Given the description of an element on the screen output the (x, y) to click on. 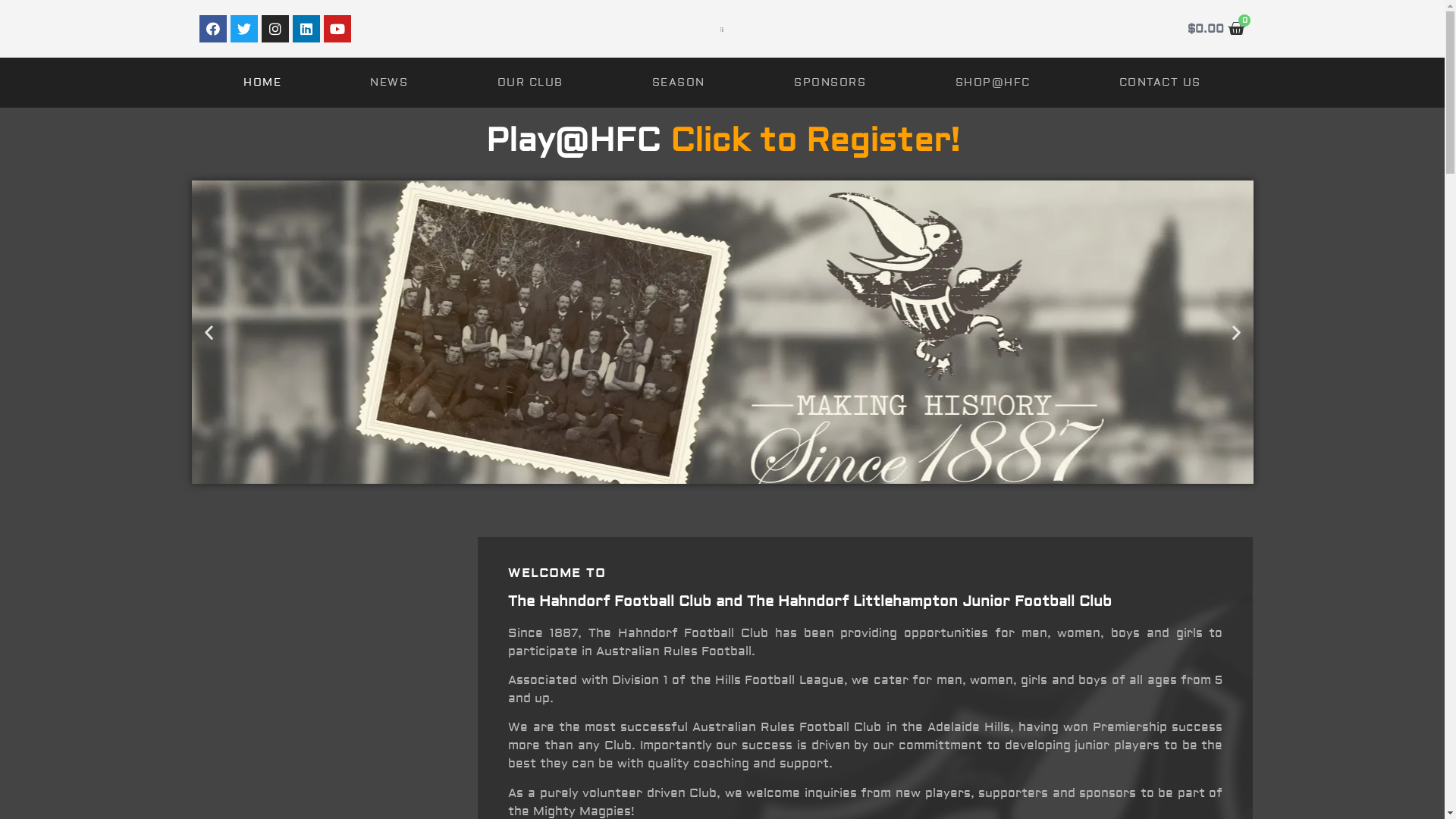
NEWS Element type: text (389, 82)
HOME Element type: text (261, 82)
SPONSORS Element type: text (829, 82)
SHOP@HFC Element type: text (992, 82)
$0.00
0 Element type: text (1216, 28)
OUR CLUB Element type: text (529, 82)
CONTACT US Element type: text (1159, 82)
SEASON Element type: text (678, 82)
Play@HFC Click to Register! Element type: text (721, 140)
